Given the description of an element on the screen output the (x, y) to click on. 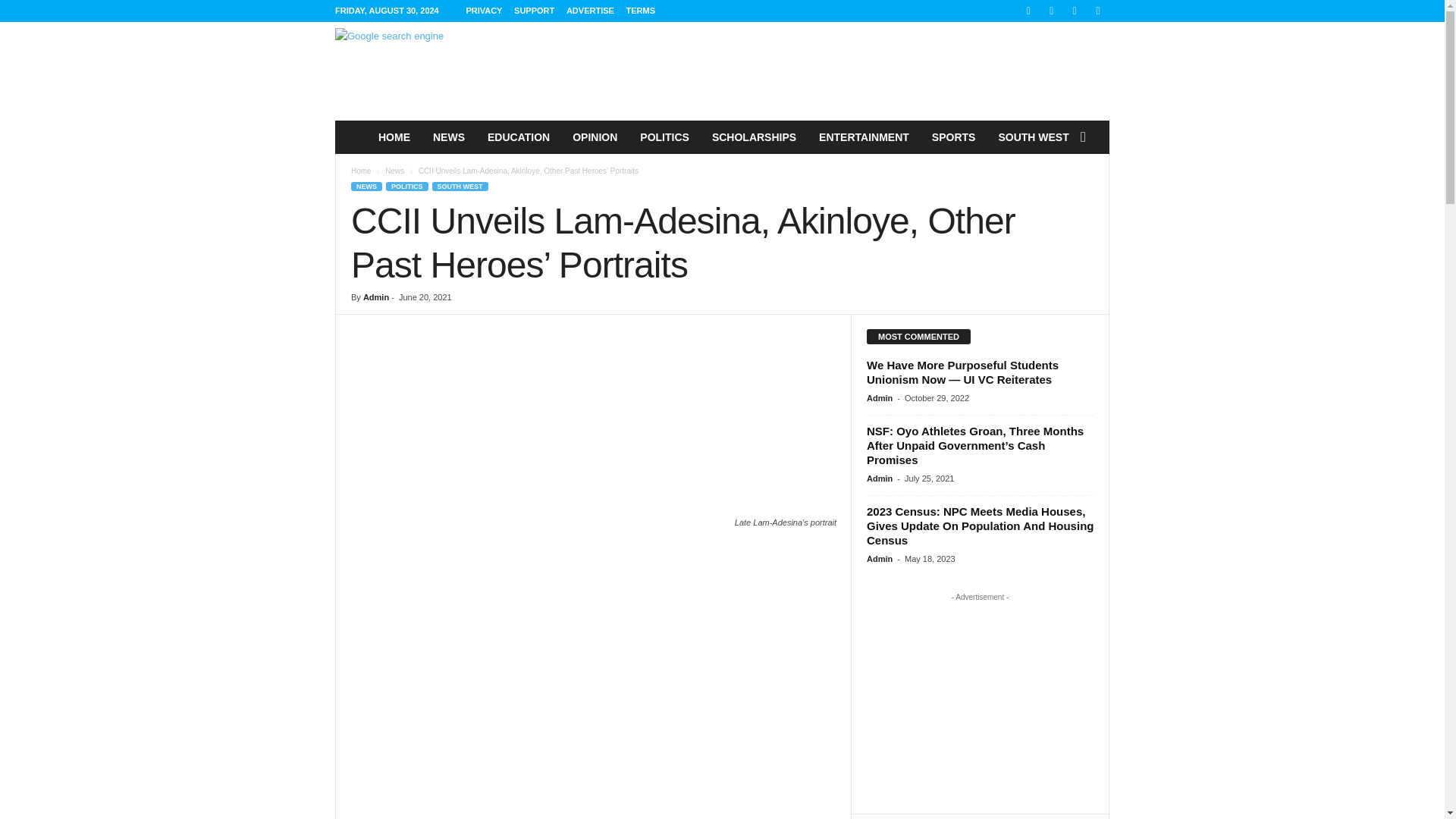
PRIVACY (483, 10)
TERMS (641, 10)
NEWS (449, 136)
SUPPORT (533, 10)
ADVERTISE (590, 10)
HOME (394, 136)
Freshpage Nigeria (350, 136)
